Given the description of an element on the screen output the (x, y) to click on. 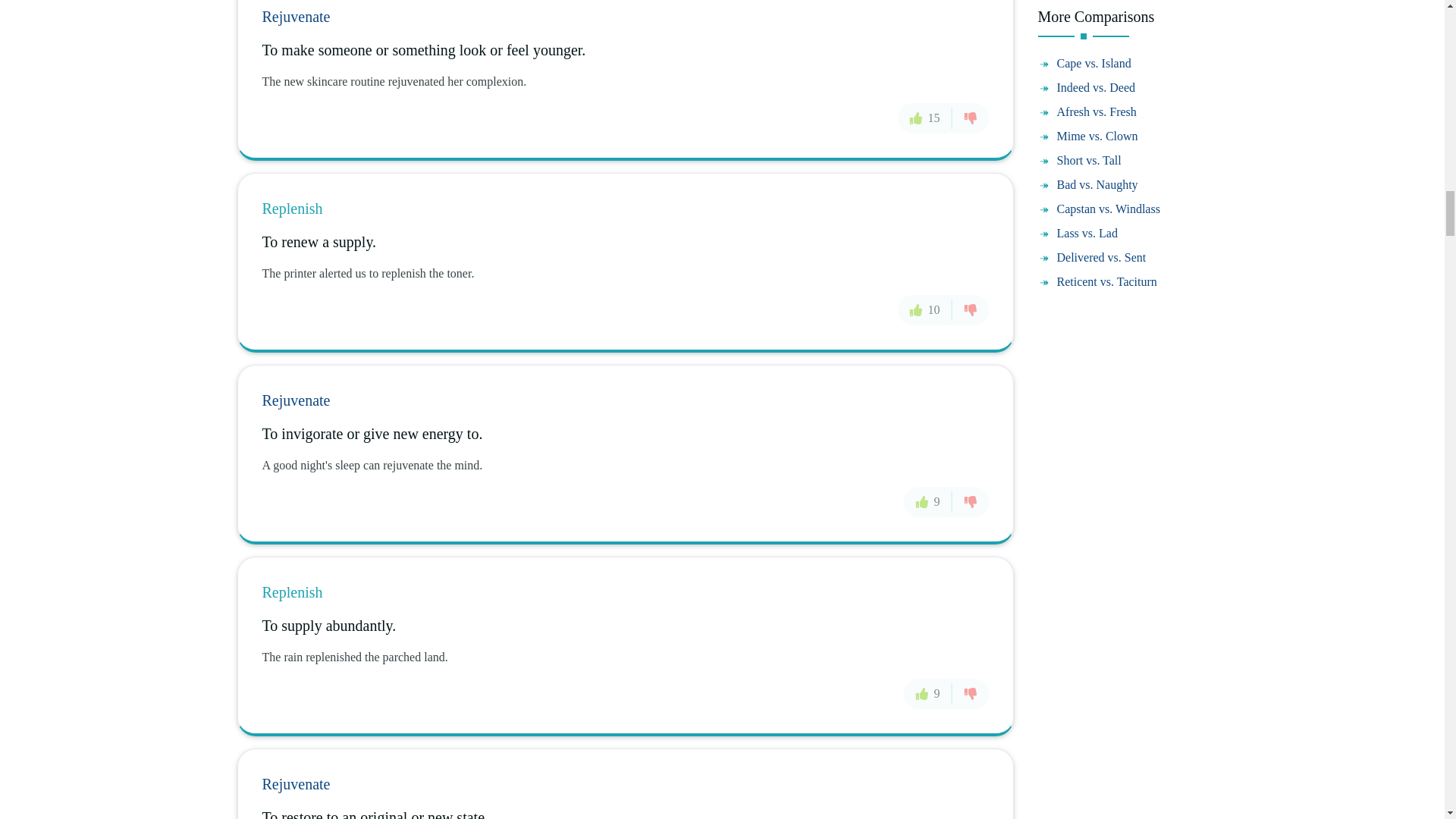
10 (925, 309)
9 (928, 501)
15 (925, 118)
9 (928, 693)
